Given the description of an element on the screen output the (x, y) to click on. 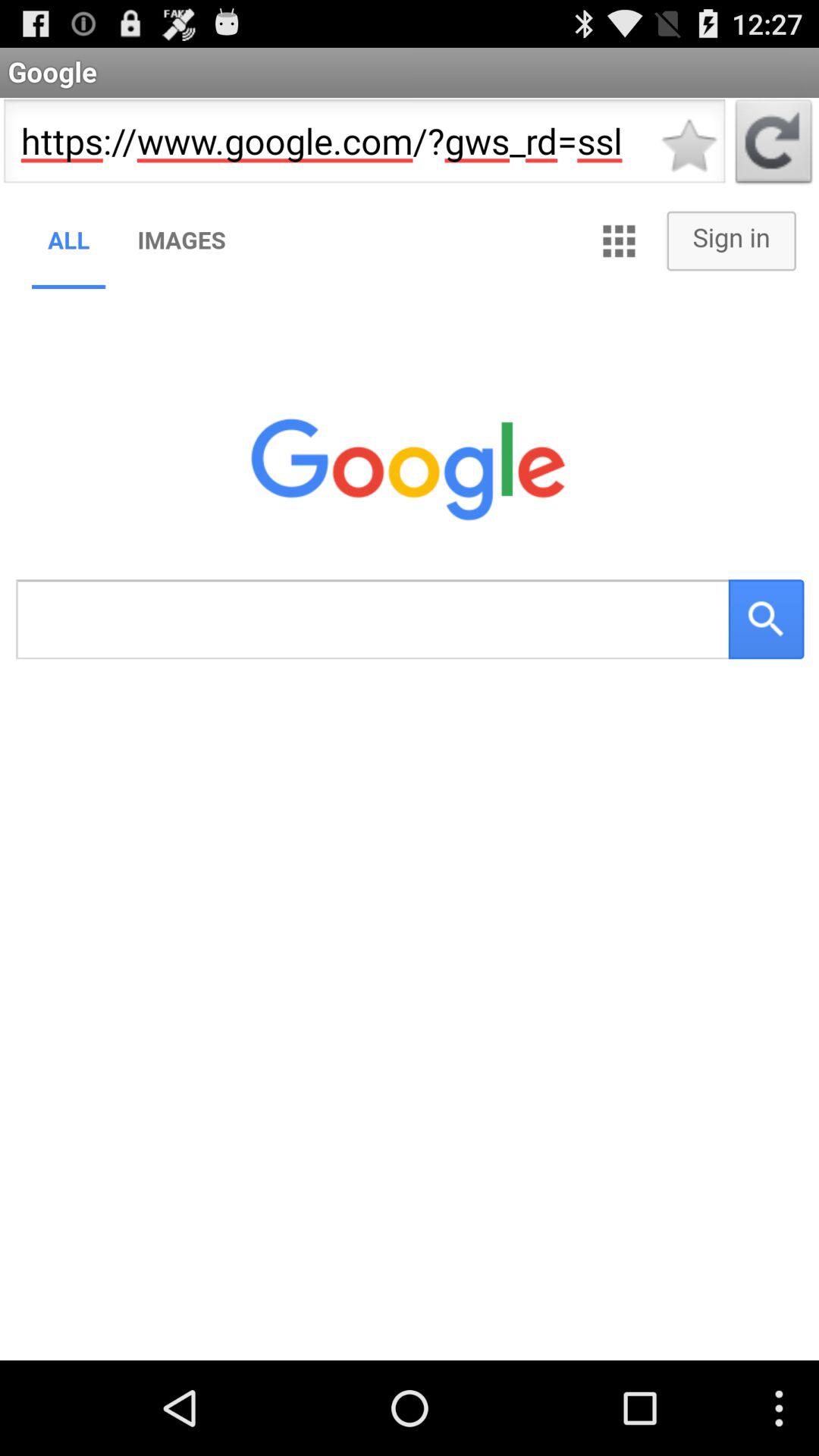
refreshes (774, 145)
